Given the description of an element on the screen output the (x, y) to click on. 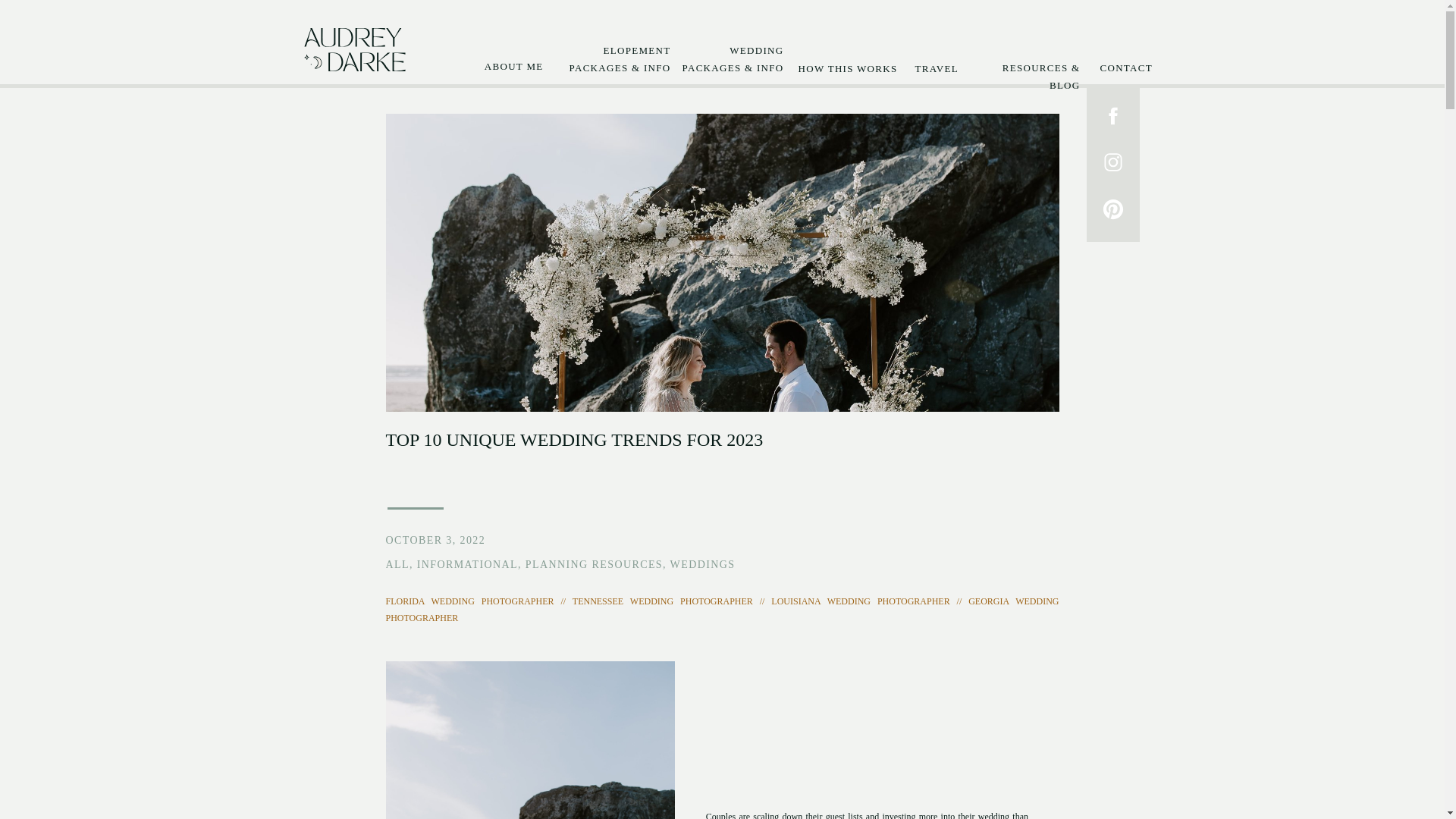
HOW THIS WORKS (845, 66)
INFORMATIONAL (467, 564)
CONTACT (1123, 67)
WEDDINGS (702, 564)
PLANNING RESOURCES (593, 564)
ALL (397, 564)
ABOUT ME (509, 65)
TRAVEL (933, 67)
